Given the description of an element on the screen output the (x, y) to click on. 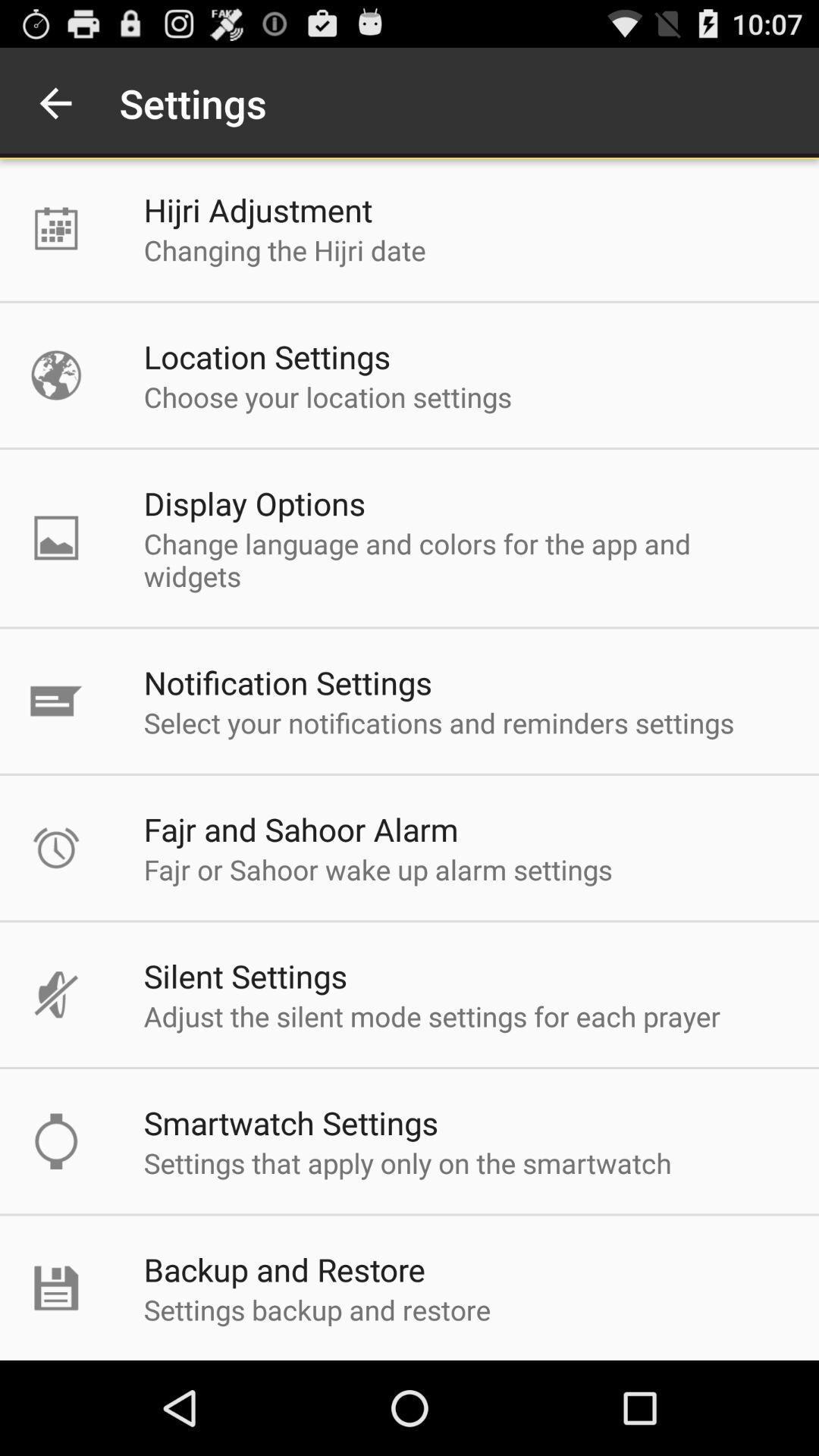
press settings that apply icon (407, 1162)
